Given the description of an element on the screen output the (x, y) to click on. 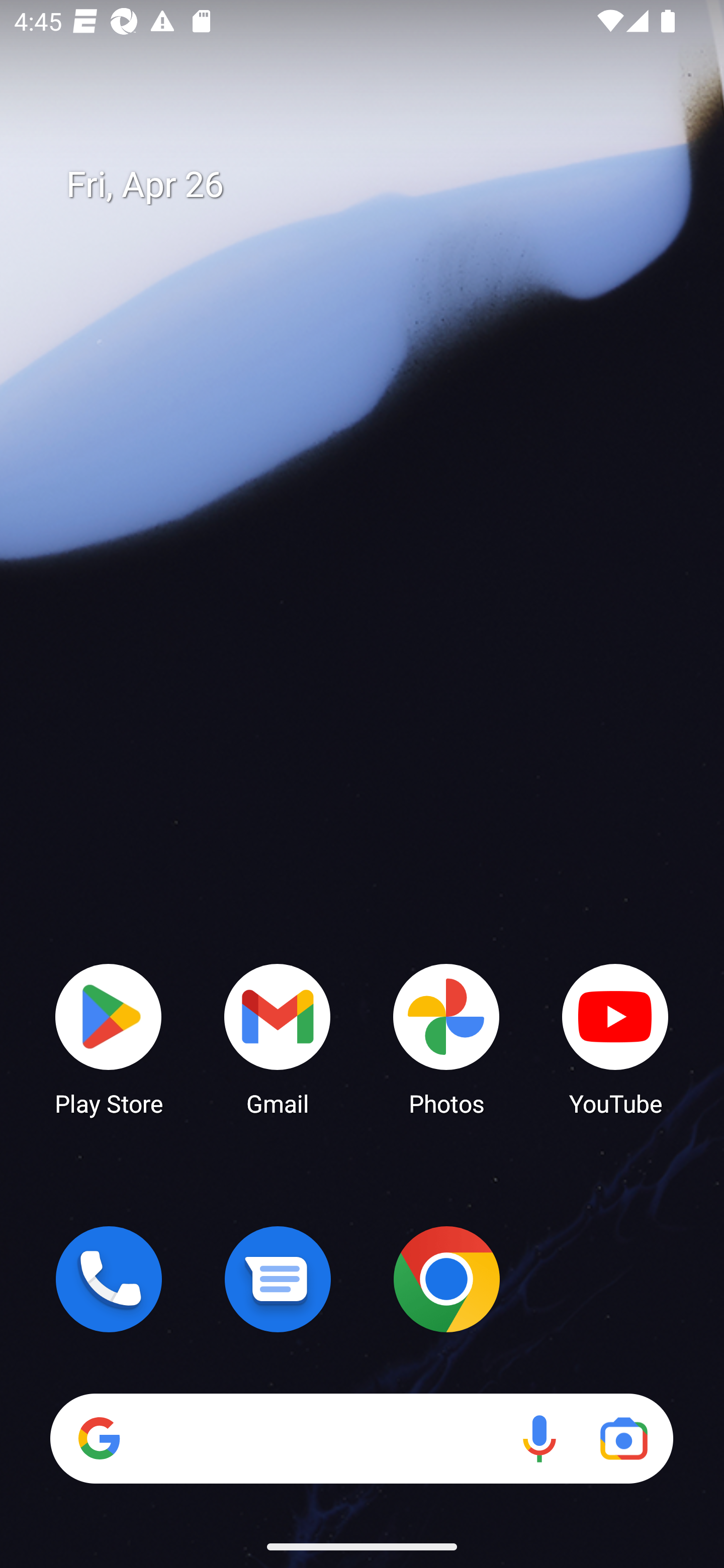
Fri, Apr 26 (375, 184)
Play Store (108, 1038)
Gmail (277, 1038)
Photos (445, 1038)
YouTube (615, 1038)
Phone (108, 1279)
Messages (277, 1279)
Chrome (446, 1279)
Search Voice search Google Lens (361, 1438)
Voice search (539, 1438)
Google Lens (623, 1438)
